Given the description of an element on the screen output the (x, y) to click on. 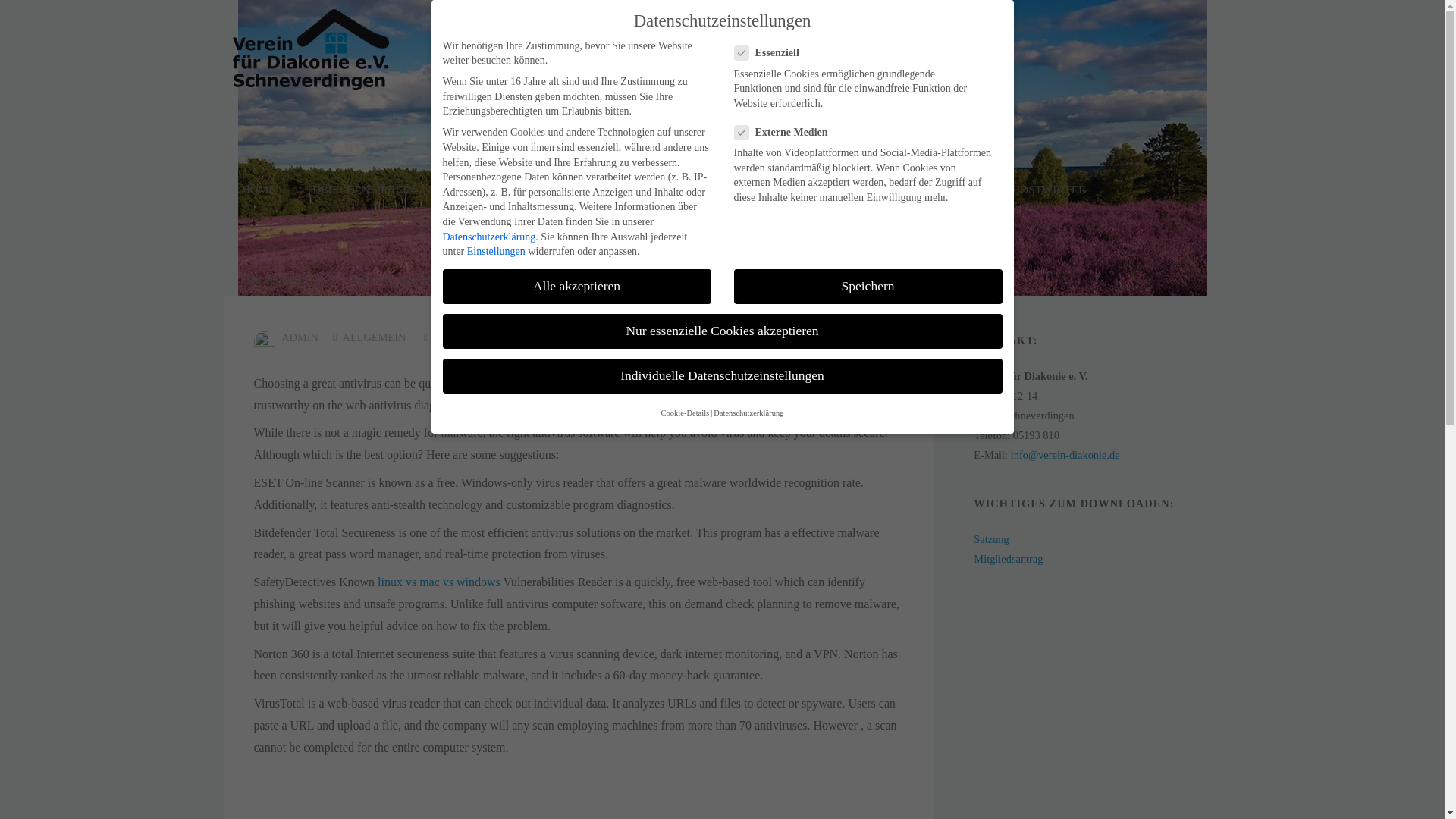
AKADEMISCHER GHOSTWRITER (998, 189)
SPENDEN (617, 189)
KONTAKT (845, 189)
ADMIN (298, 337)
View all posts by admin (298, 337)
GHOSTWRITER (282, 280)
ESSAY WRITER (401, 280)
MITGLIEDSCHAFT (729, 189)
linux vs mac vs windows (438, 581)
ALLGEMEIN (374, 337)
